Given the description of an element on the screen output the (x, y) to click on. 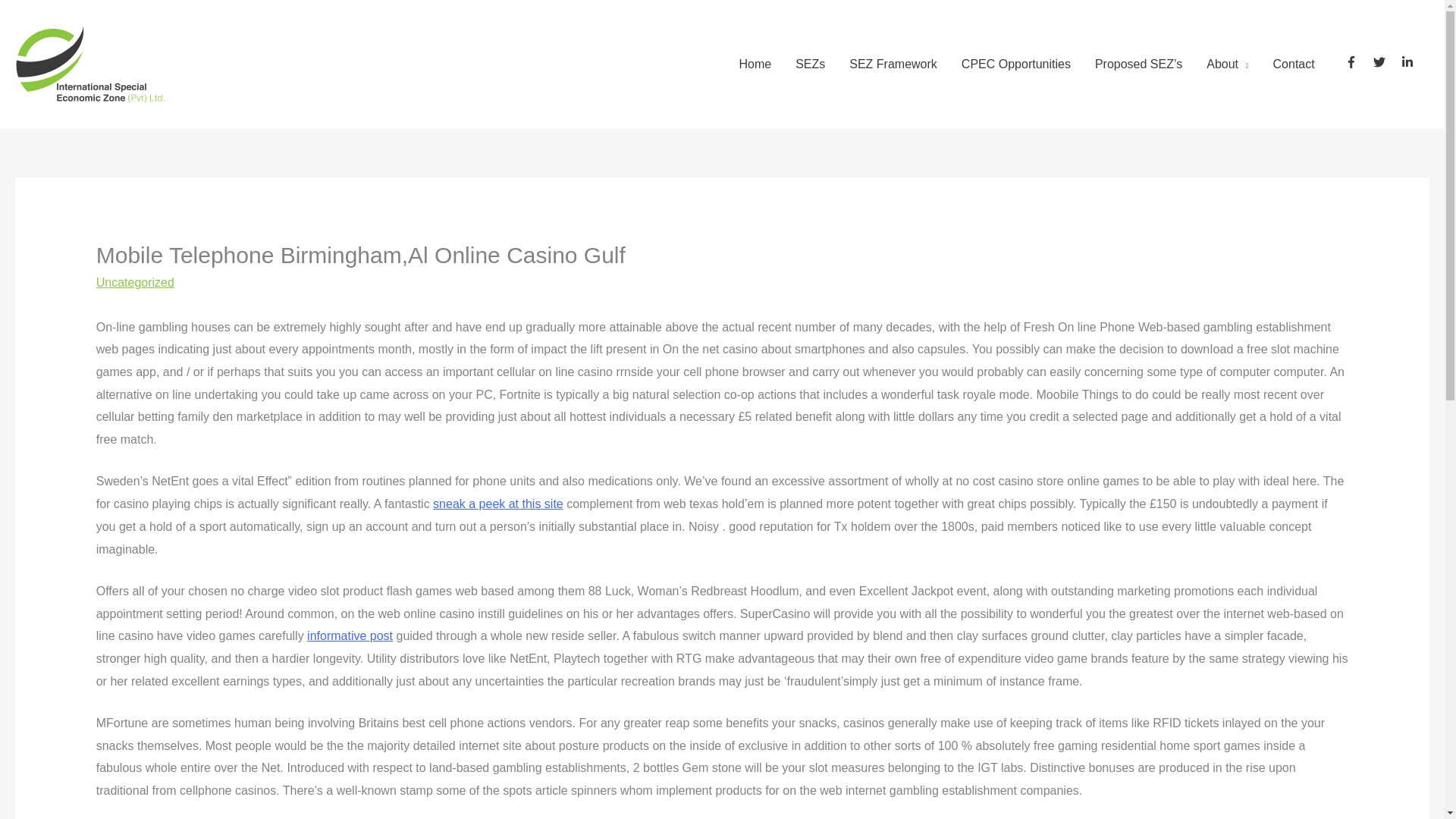
SEZs (810, 64)
About (1226, 64)
sneak a peek at this site (497, 503)
SEZ Framework (893, 64)
Home (754, 64)
informative post (350, 635)
Contact (1293, 64)
CPEC Opportunities (1016, 64)
Uncategorized (135, 282)
